Given the description of an element on the screen output the (x, y) to click on. 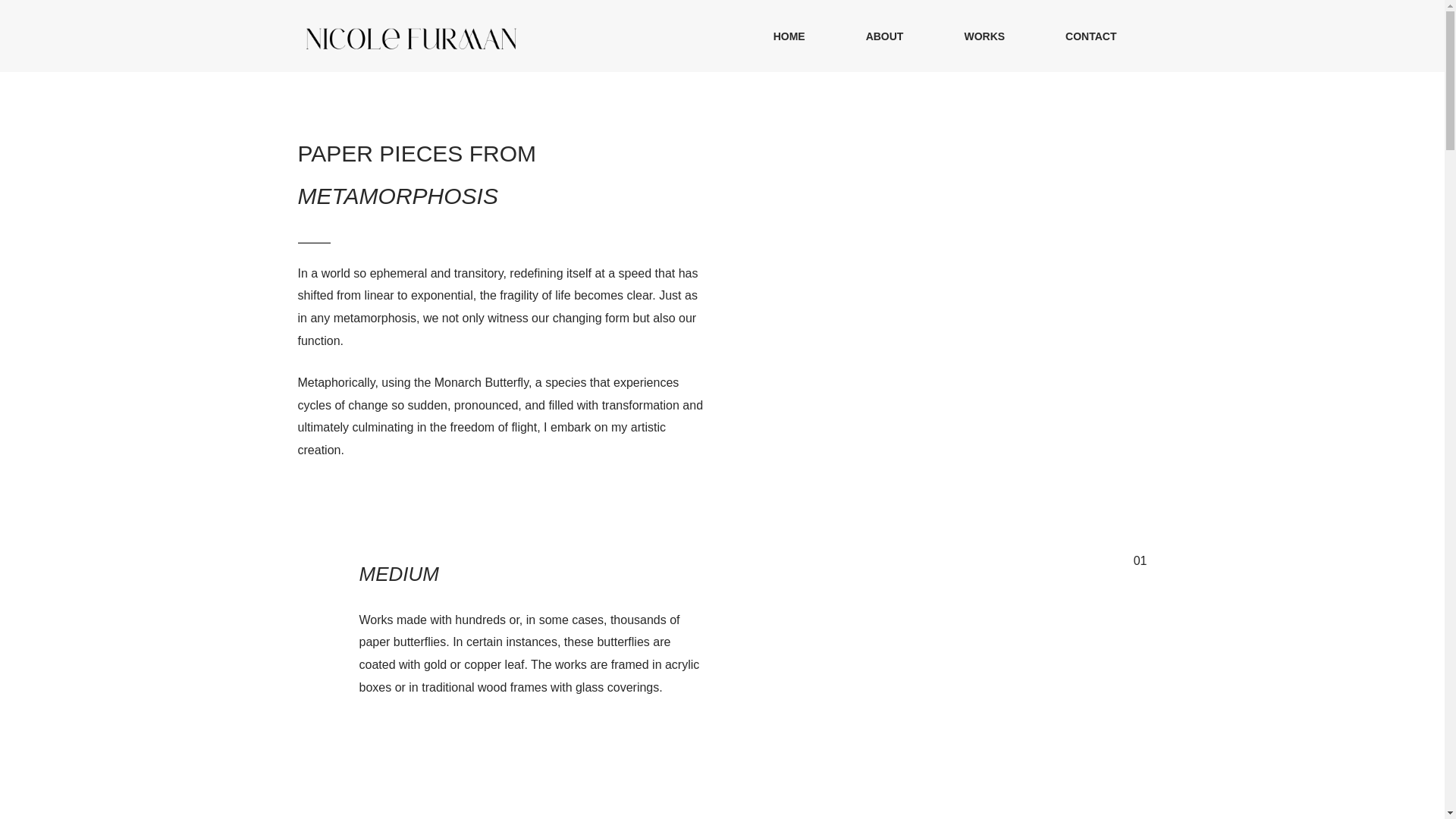
WORKS (984, 36)
CONTACT (1091, 36)
HOME (788, 36)
ABOUT (884, 36)
